Given the description of an element on the screen output the (x, y) to click on. 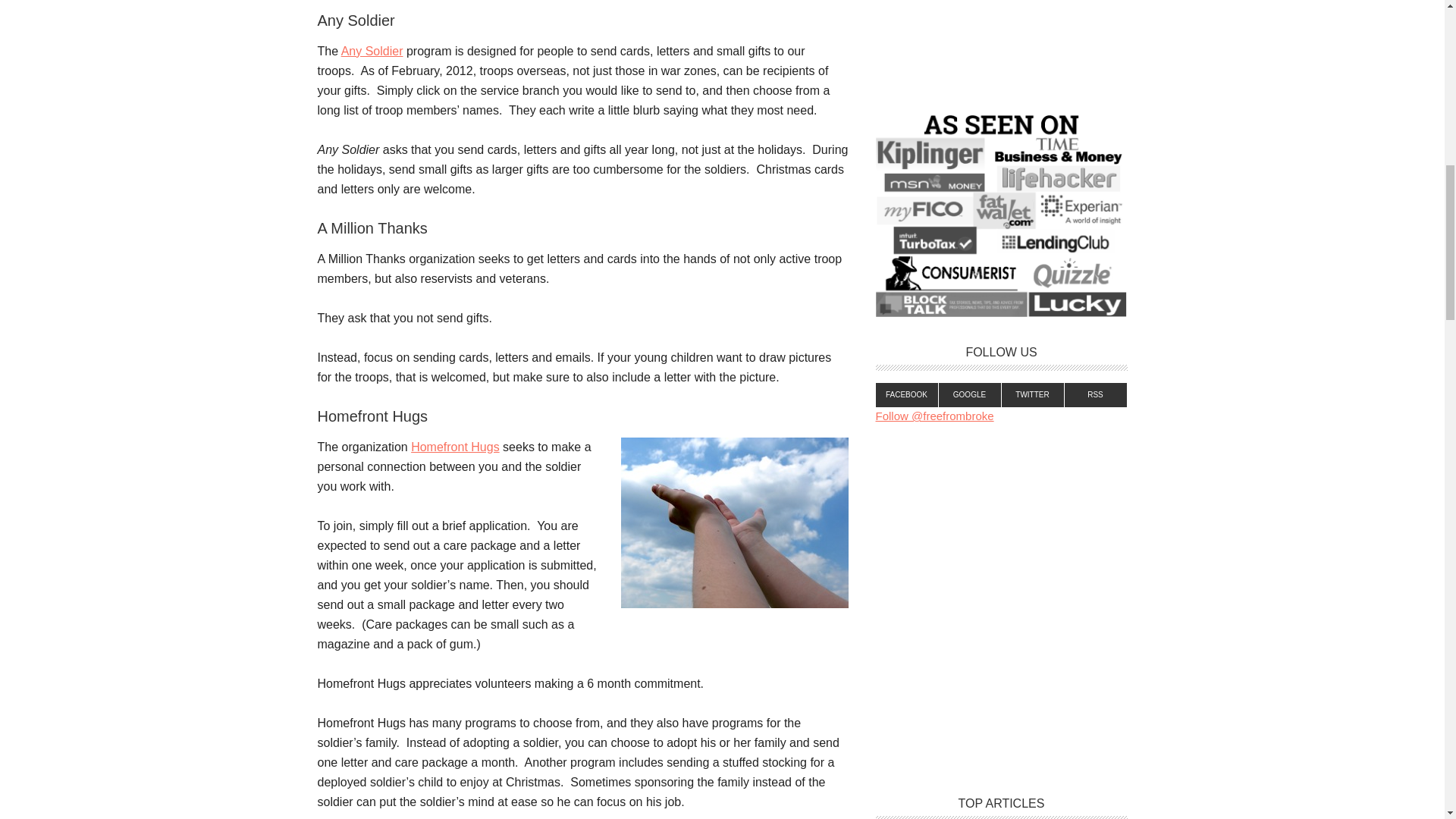
GOOGLE (970, 395)
FACEBOOK (906, 395)
Any Soldier (371, 51)
Homefront Hugs (454, 446)
